Given the description of an element on the screen output the (x, y) to click on. 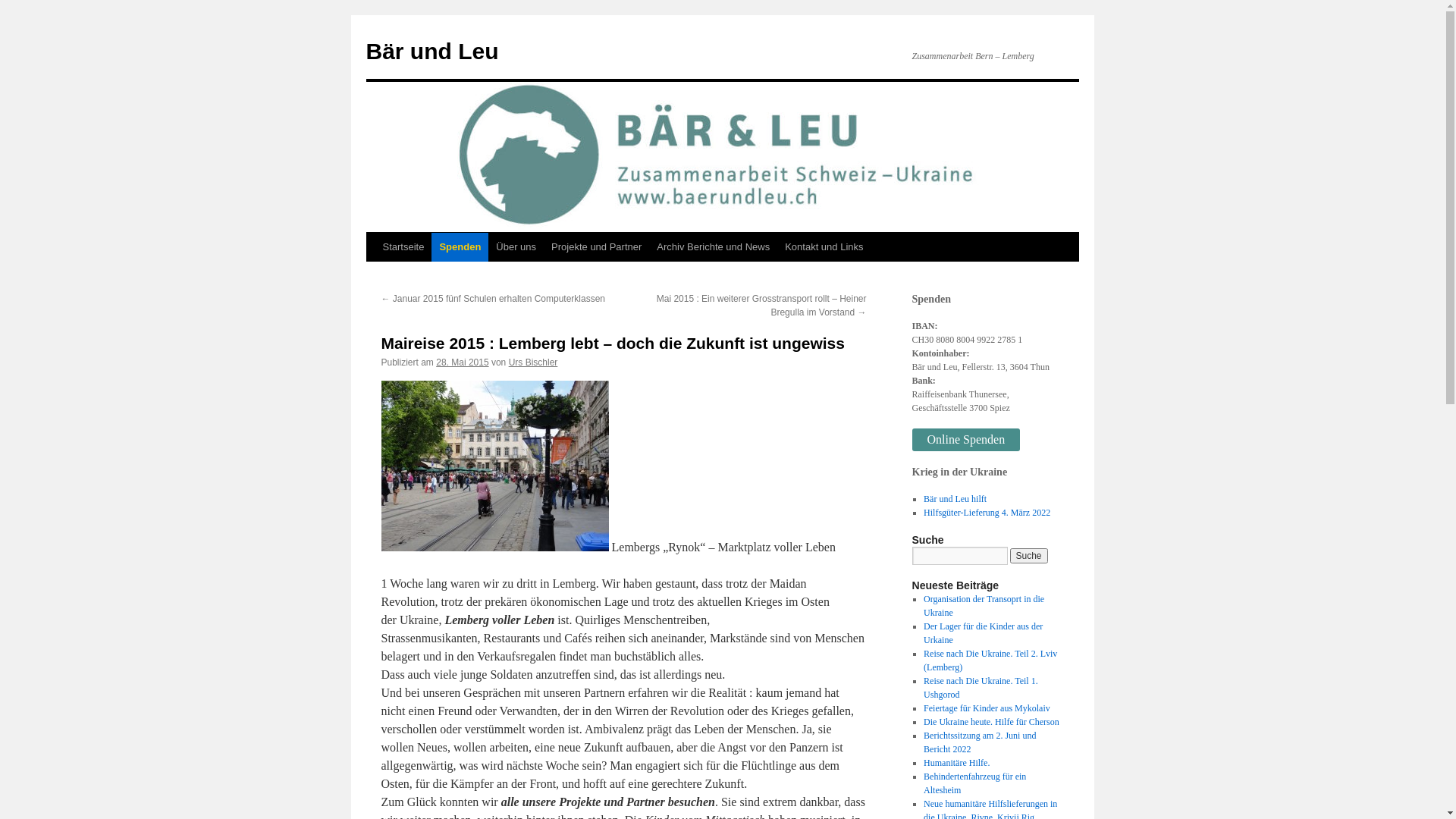
Suche Element type: text (1029, 555)
28. Mai 2015 Element type: text (462, 362)
Zum Inhalt springen Element type: text (372, 275)
Projekte und Partner Element type: text (596, 246)
Archiv Berichte und News Element type: text (713, 246)
Online Spenden Element type: text (965, 439)
Berichtssitzung am 2. Juni und Bericht 2022 Element type: text (979, 742)
Reise nach Die Ukraine. Teil 1. Ushgorod Element type: text (980, 687)
Kontakt und Links Element type: text (823, 246)
Urs Bischler Element type: text (533, 362)
Startseite Element type: text (402, 246)
Spenden Element type: text (459, 246)
Reise nach Die Ukraine. Teil 2. Lviv (Lemberg) Element type: text (990, 660)
Organisation der Transoprt in die Ukraine Element type: text (983, 605)
